Given the description of an element on the screen output the (x, y) to click on. 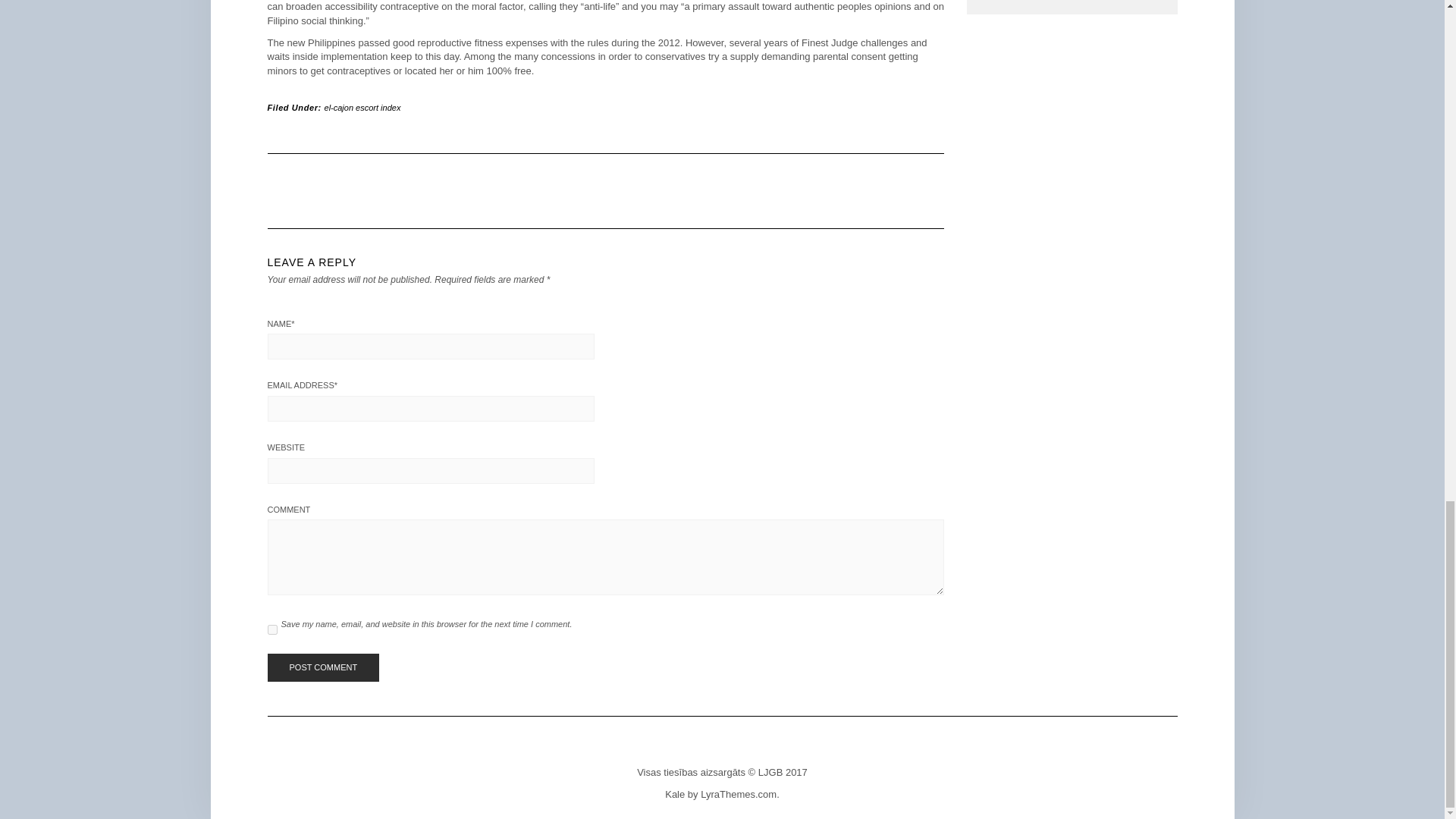
el-cajon escort index (362, 107)
yes (271, 629)
Kale (674, 794)
Post Comment (322, 667)
Post Comment (322, 667)
